Given the description of an element on the screen output the (x, y) to click on. 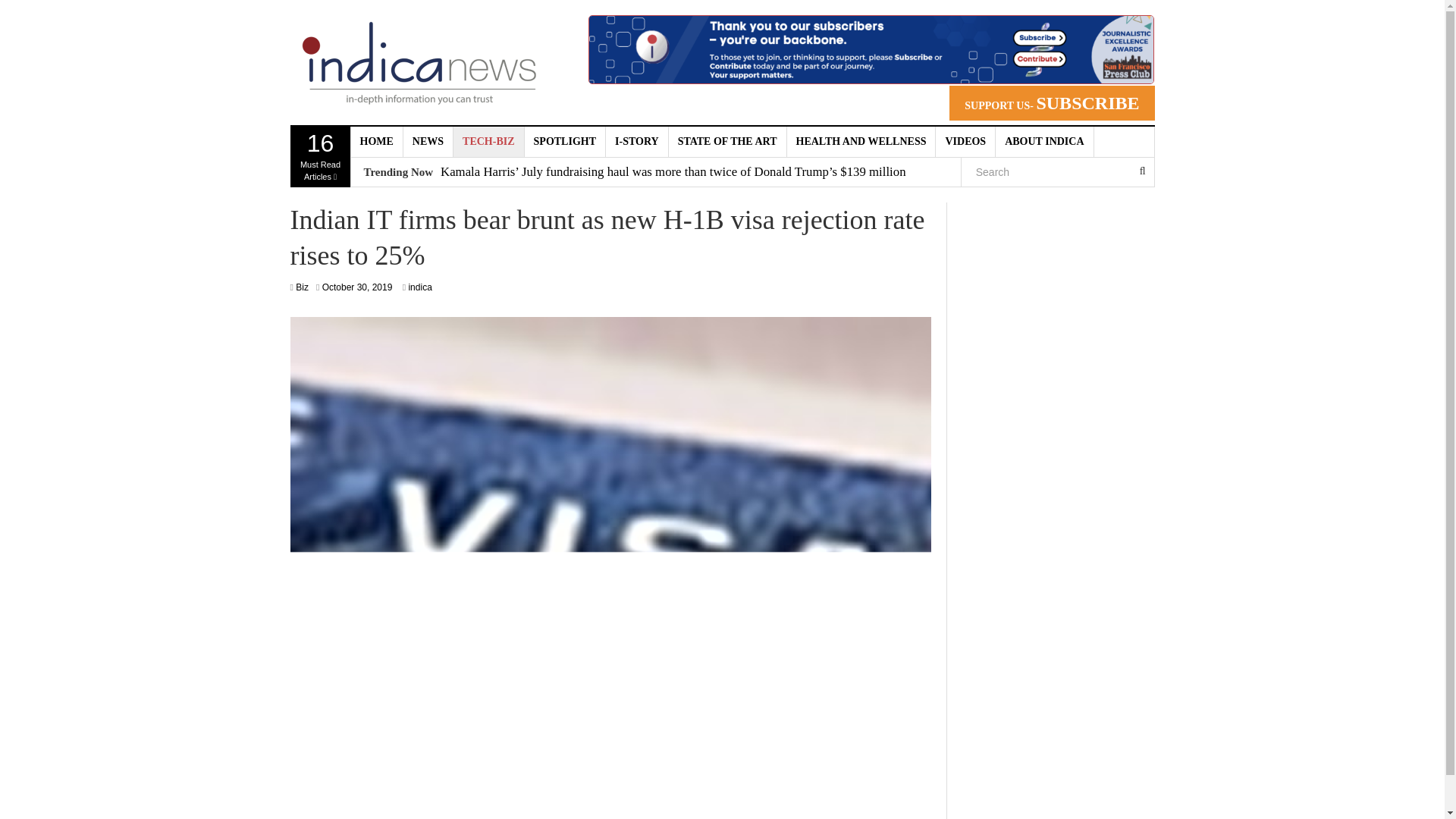
HOME (376, 141)
NEWS (427, 141)
STATE OF THE ART (727, 141)
ABOUT INDICA (1044, 141)
HEALTH AND WELLNESS (861, 141)
VIDEOS (965, 141)
indica (418, 286)
October 30, 2019 (357, 286)
SPOTLIGHT (564, 141)
SUPPORT US- SUBSCRIBE (1051, 102)
